Given the description of an element on the screen output the (x, y) to click on. 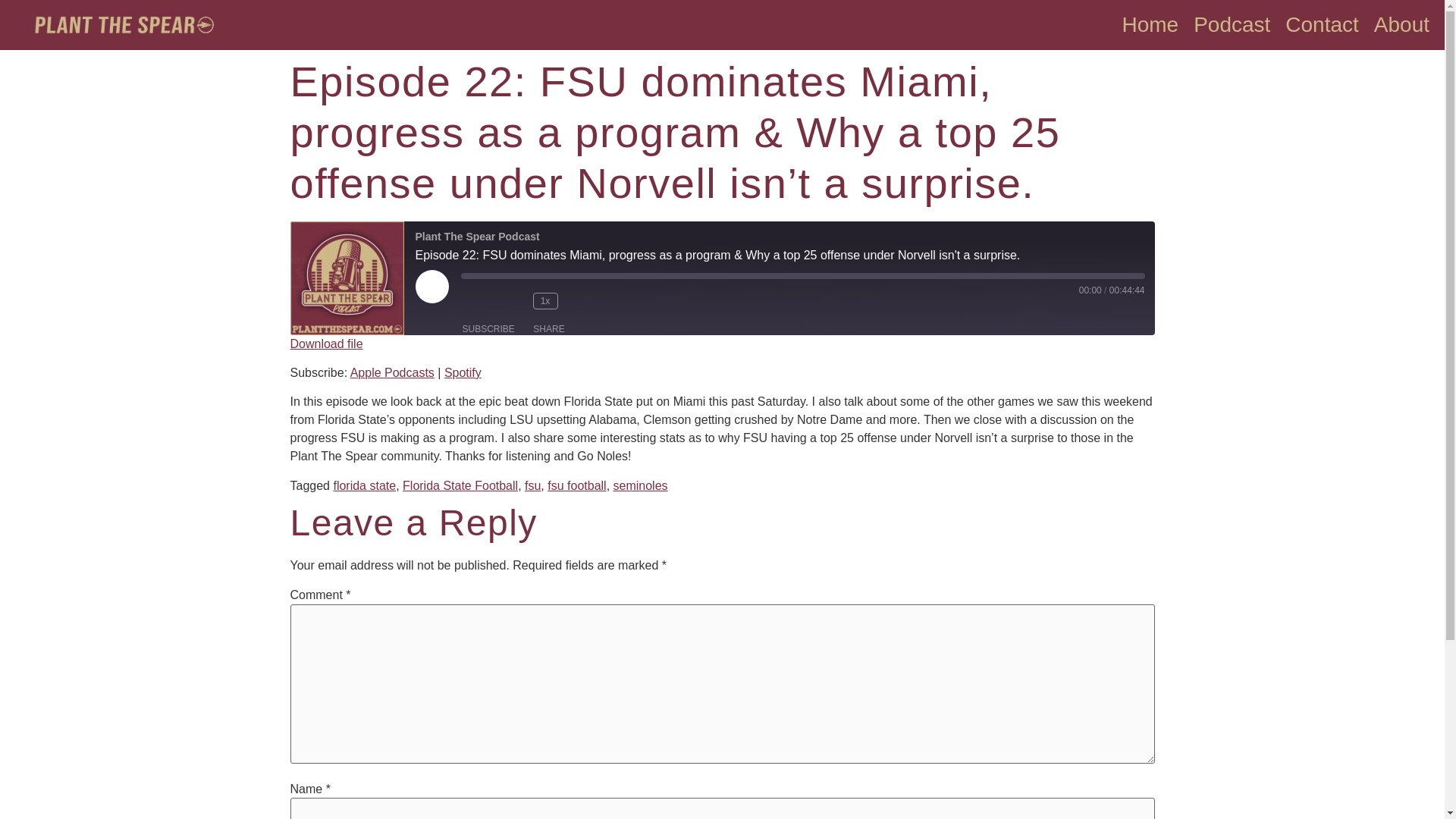
Florida State Football (460, 485)
SHARE (548, 329)
fsu (532, 485)
Fast Forward 30 seconds (585, 300)
Download file (325, 343)
Share (548, 329)
SUBSCRIBE (488, 329)
Playback Speed (544, 300)
Play (431, 286)
Podcast (1232, 24)
